Given the description of an element on the screen output the (x, y) to click on. 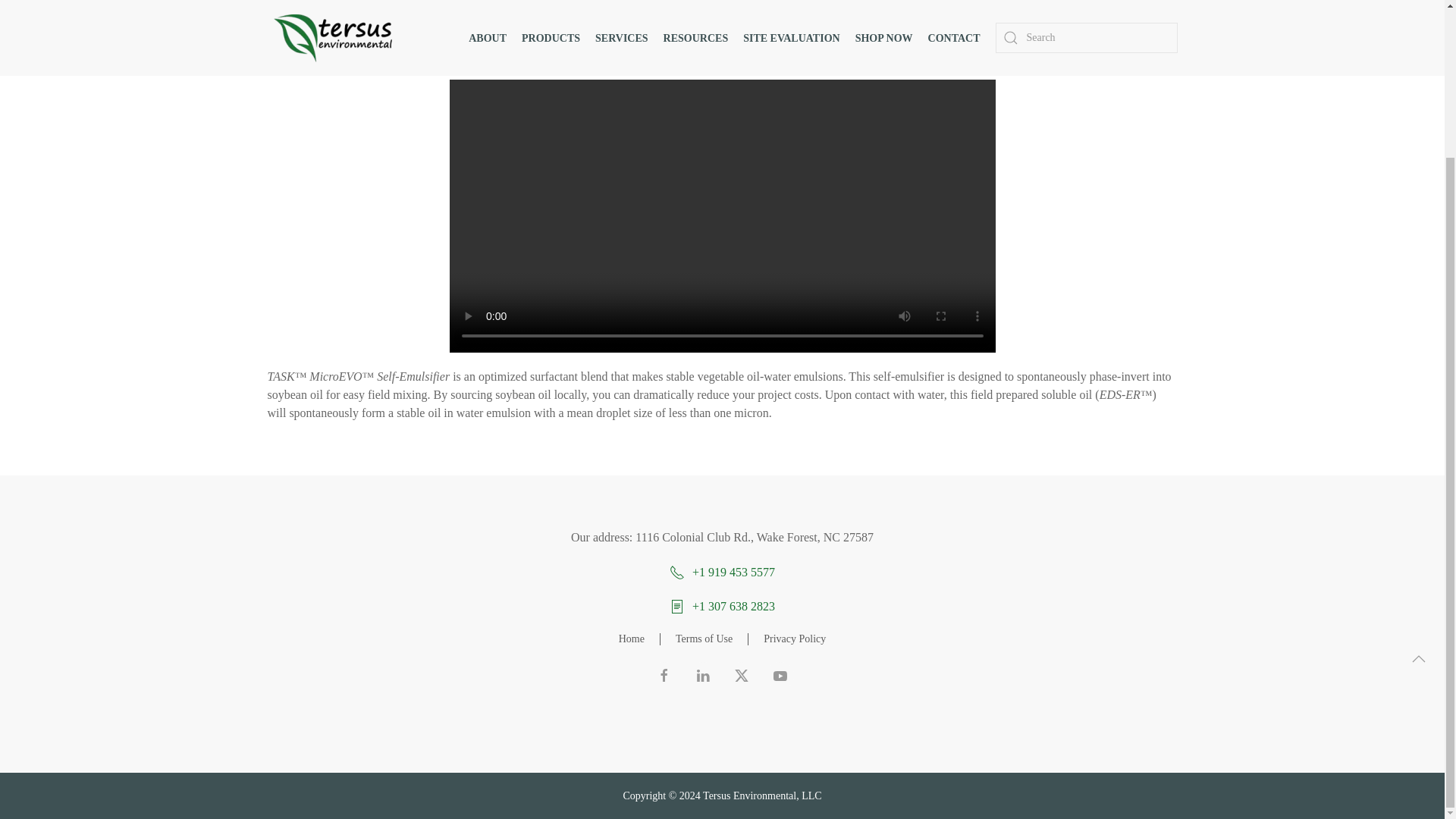
To top (1418, 474)
